Given the description of an element on the screen output the (x, y) to click on. 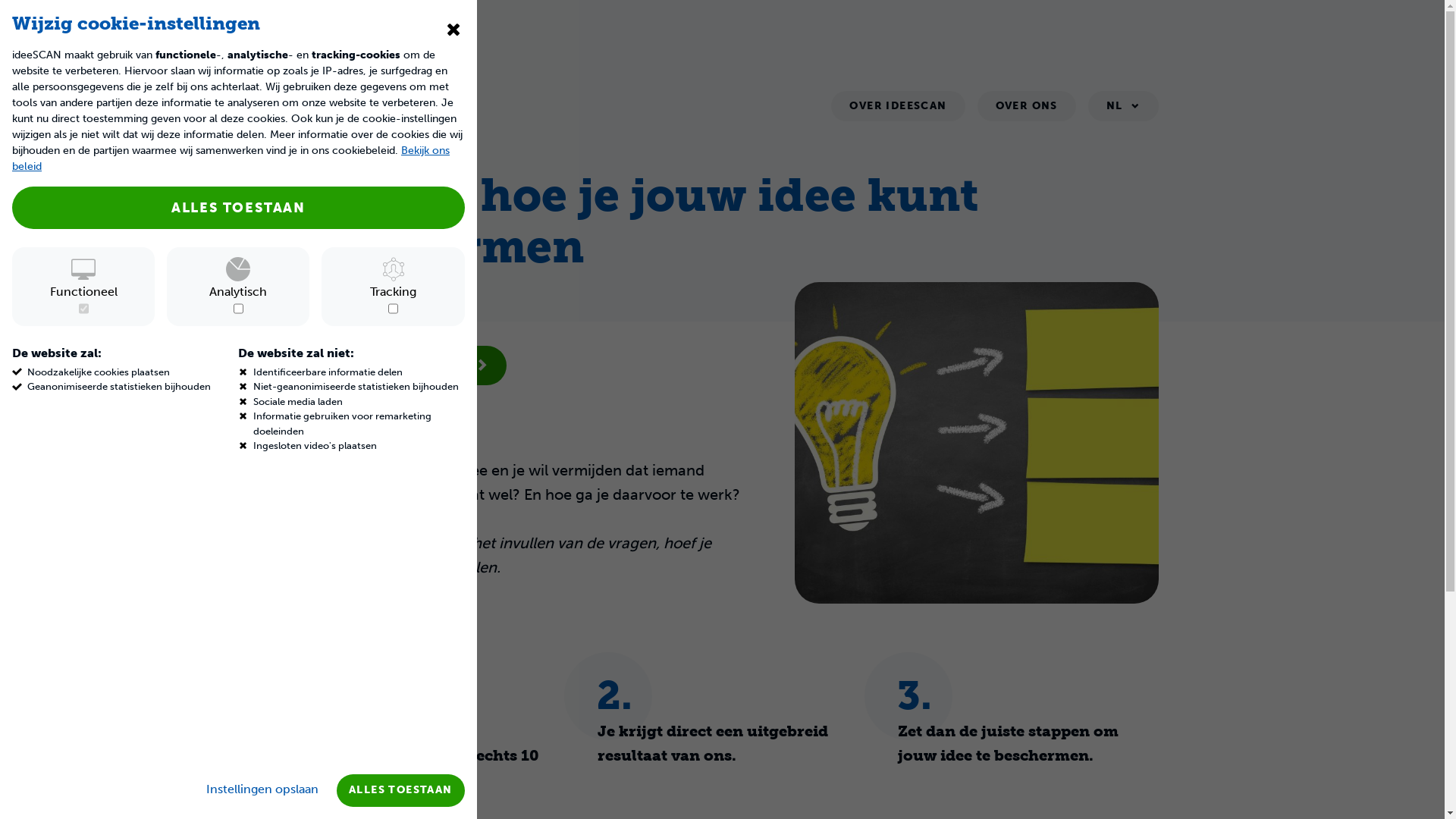
OVER IDEESCAN Element type: text (897, 106)
DOE DE IDEESCAN Element type: text (401, 365)
Overslaan en naar de inhoud gaan Element type: text (0, 0)
OVER ONS Element type: text (1026, 106)
Bekijk ons beleid Element type: text (230, 158)
